Given the description of an element on the screen output the (x, y) to click on. 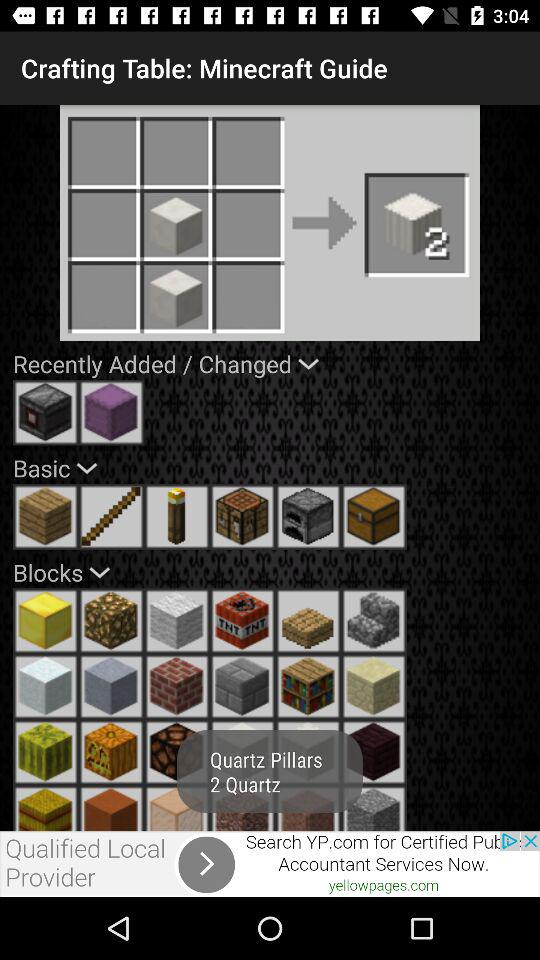
add box to table (373, 516)
